Given the description of an element on the screen output the (x, y) to click on. 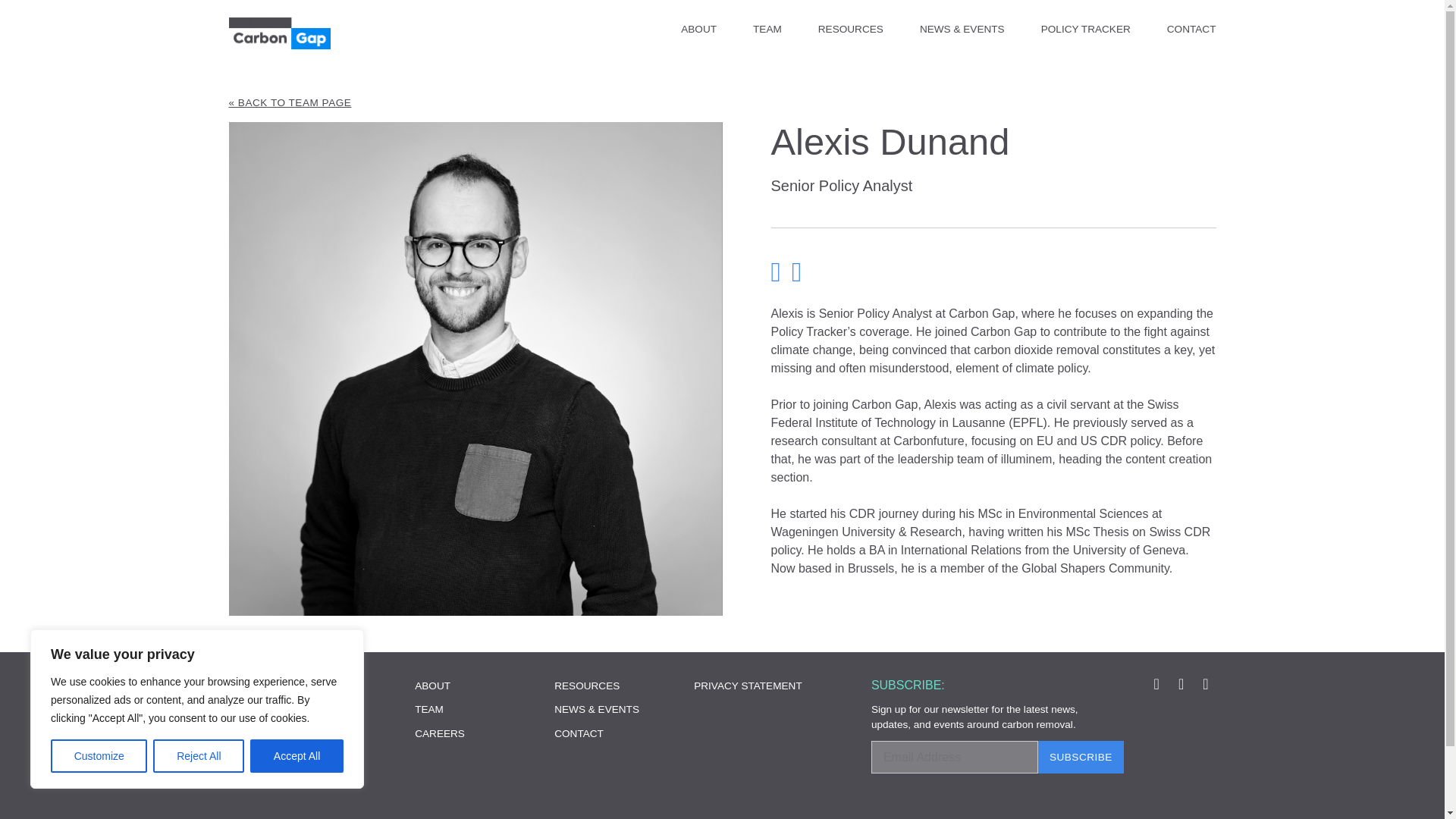
Subscribe (1081, 757)
POLICY TRACKER (1086, 30)
Customize (98, 756)
ABOUT (698, 30)
RESOURCES (850, 30)
Back to Team (721, 102)
Accept All (296, 756)
Reject All (198, 756)
TEAM (766, 30)
CONTACT (1191, 30)
